Given the description of an element on the screen output the (x, y) to click on. 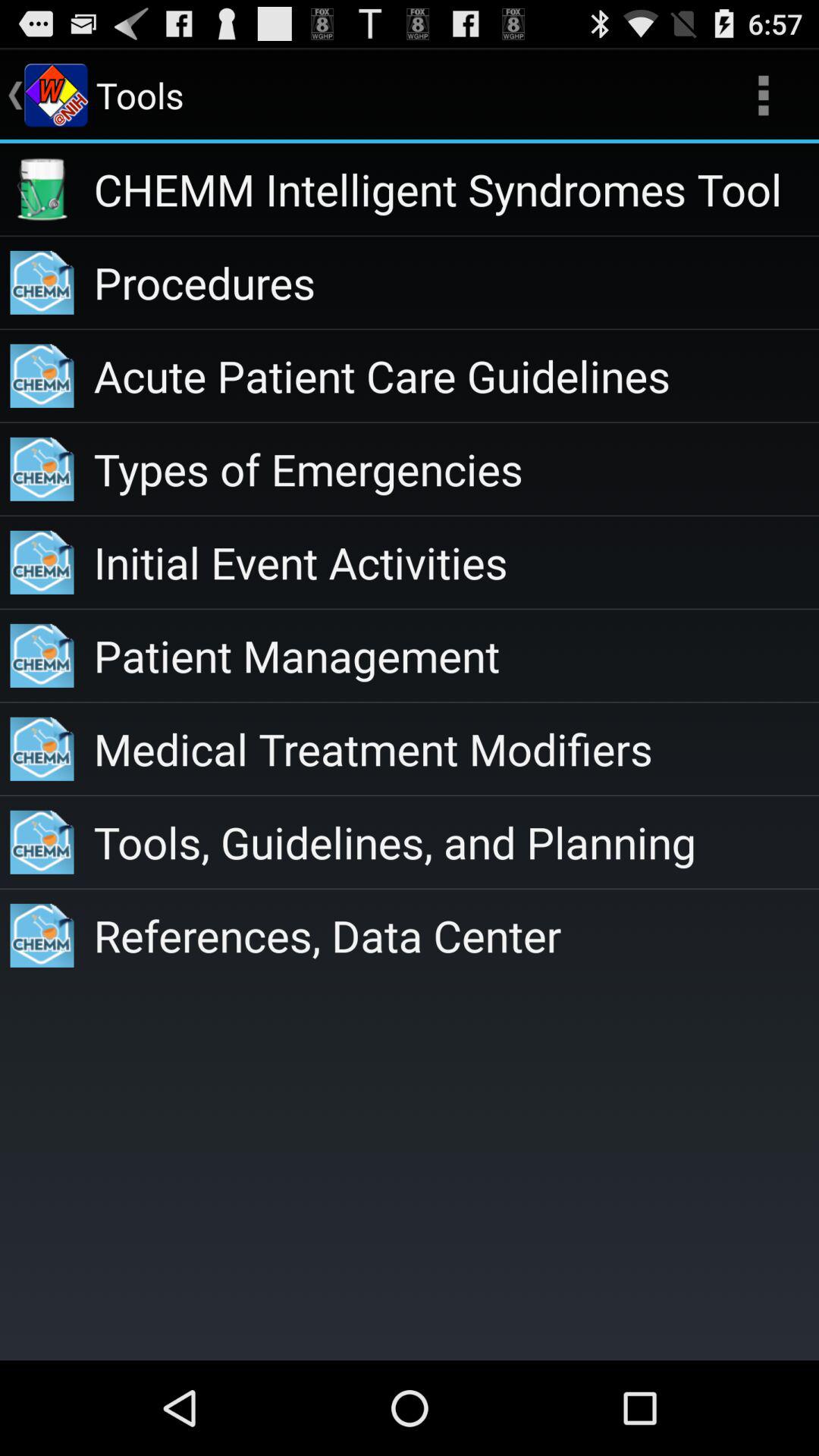
launch icon below medical treatment modifiers app (456, 842)
